Given the description of an element on the screen output the (x, y) to click on. 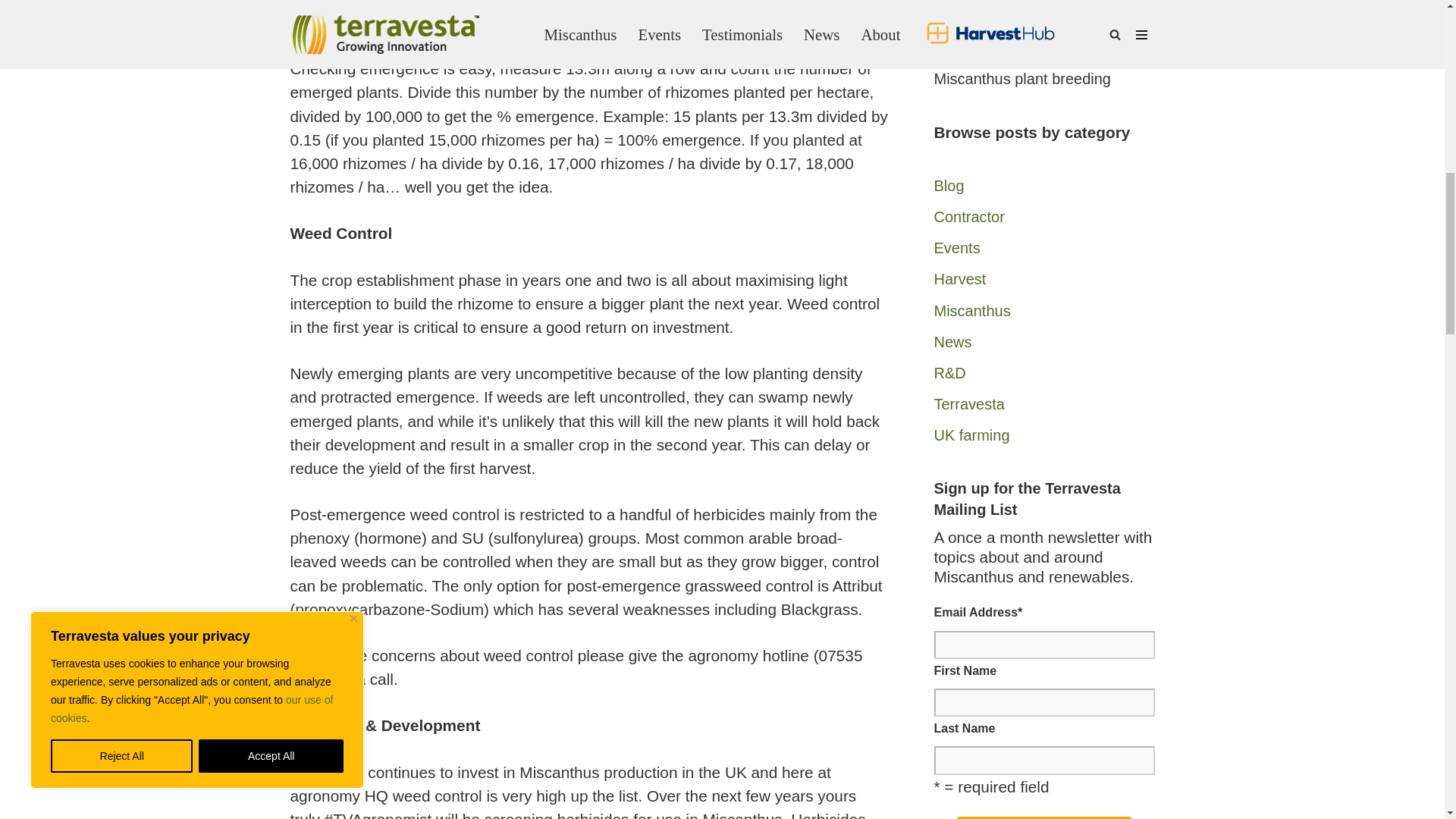
Subscribe (1044, 817)
